Given the description of an element on the screen output the (x, y) to click on. 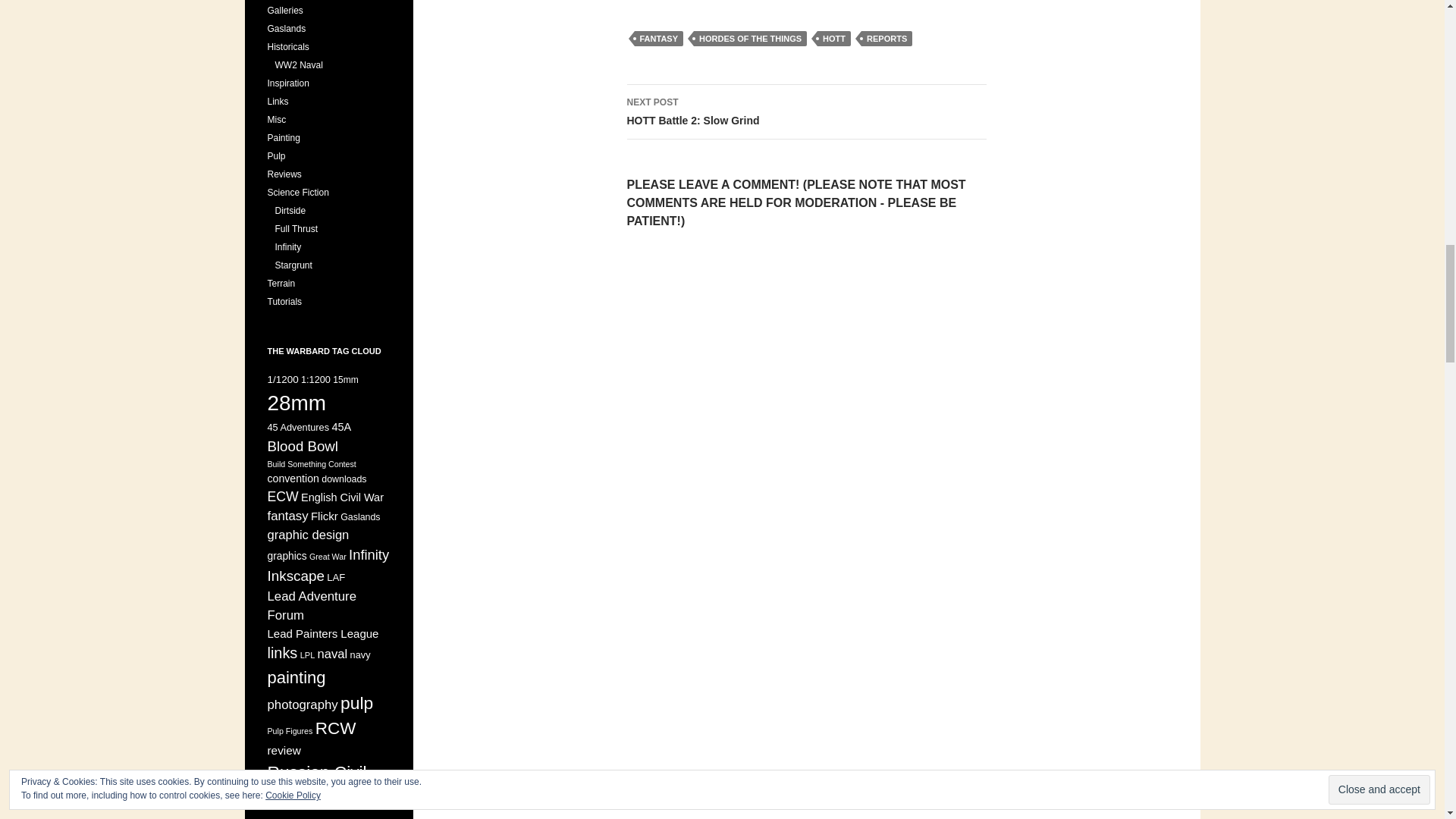
HORDES OF THE THINGS (750, 37)
FANTASY (657, 37)
Comment Form (805, 411)
